Given the description of an element on the screen output the (x, y) to click on. 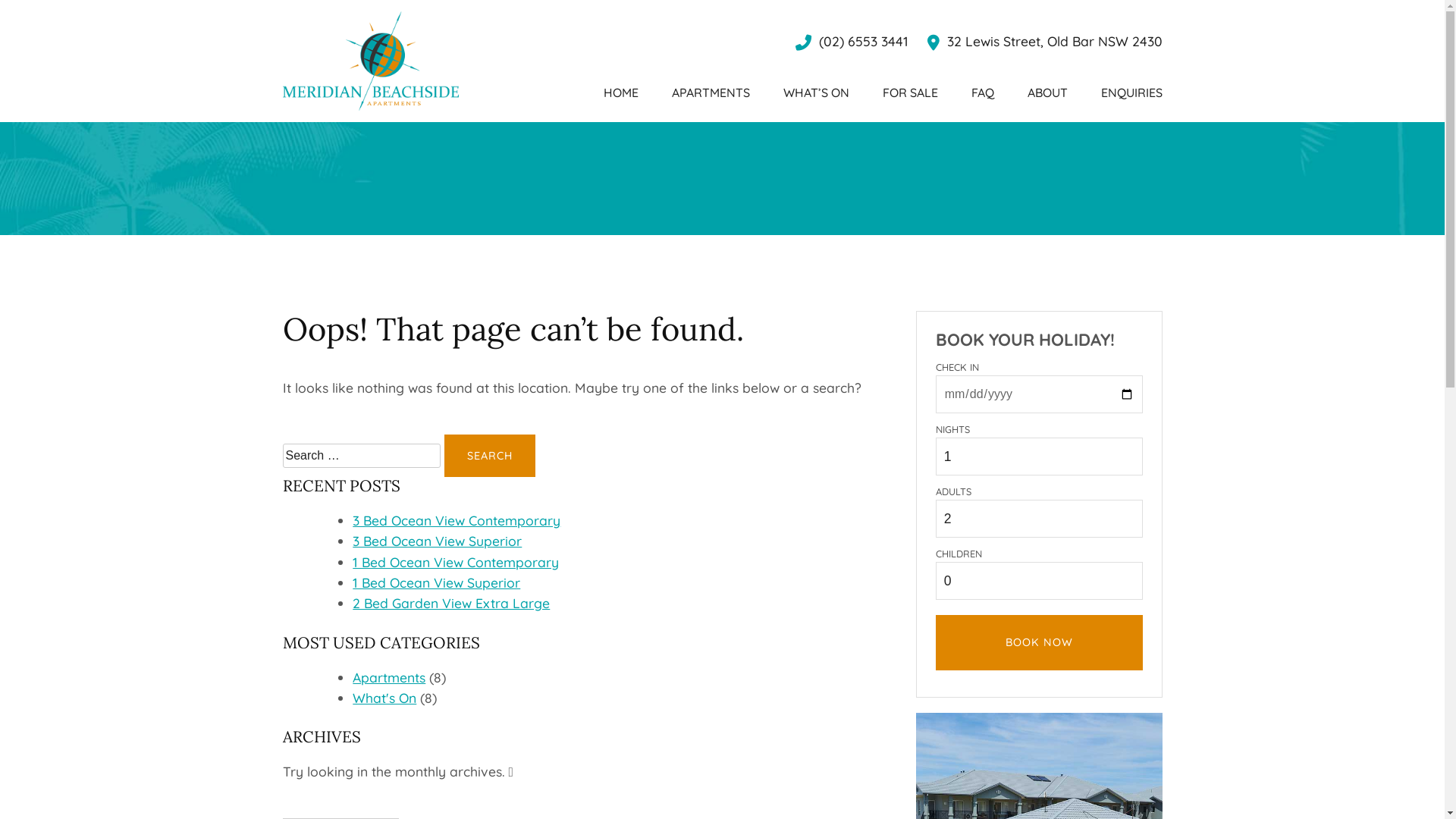
APARTMENTS Element type: text (710, 92)
BOOK NOW Element type: text (1038, 642)
FOR SALE Element type: text (910, 92)
3 Bed Ocean View Contemporary Element type: text (456, 519)
1 Bed Ocean View Superior Element type: text (436, 582)
What's On Element type: text (384, 697)
(02) 6553 3441 Element type: text (850, 41)
HOME Element type: text (620, 92)
Search Element type: text (489, 455)
ENQUIRIES Element type: text (1131, 92)
2 Bed Garden View Extra Large Element type: text (450, 602)
32 Lewis Street, Old Bar NSW 2430 Element type: text (1043, 41)
3 Bed Ocean View Superior Element type: text (436, 540)
1 Bed Ocean View Contemporary Element type: text (455, 561)
ABOUT Element type: text (1046, 92)
Apartments Element type: text (388, 676)
FAQ Element type: text (981, 92)
